Given the description of an element on the screen output the (x, y) to click on. 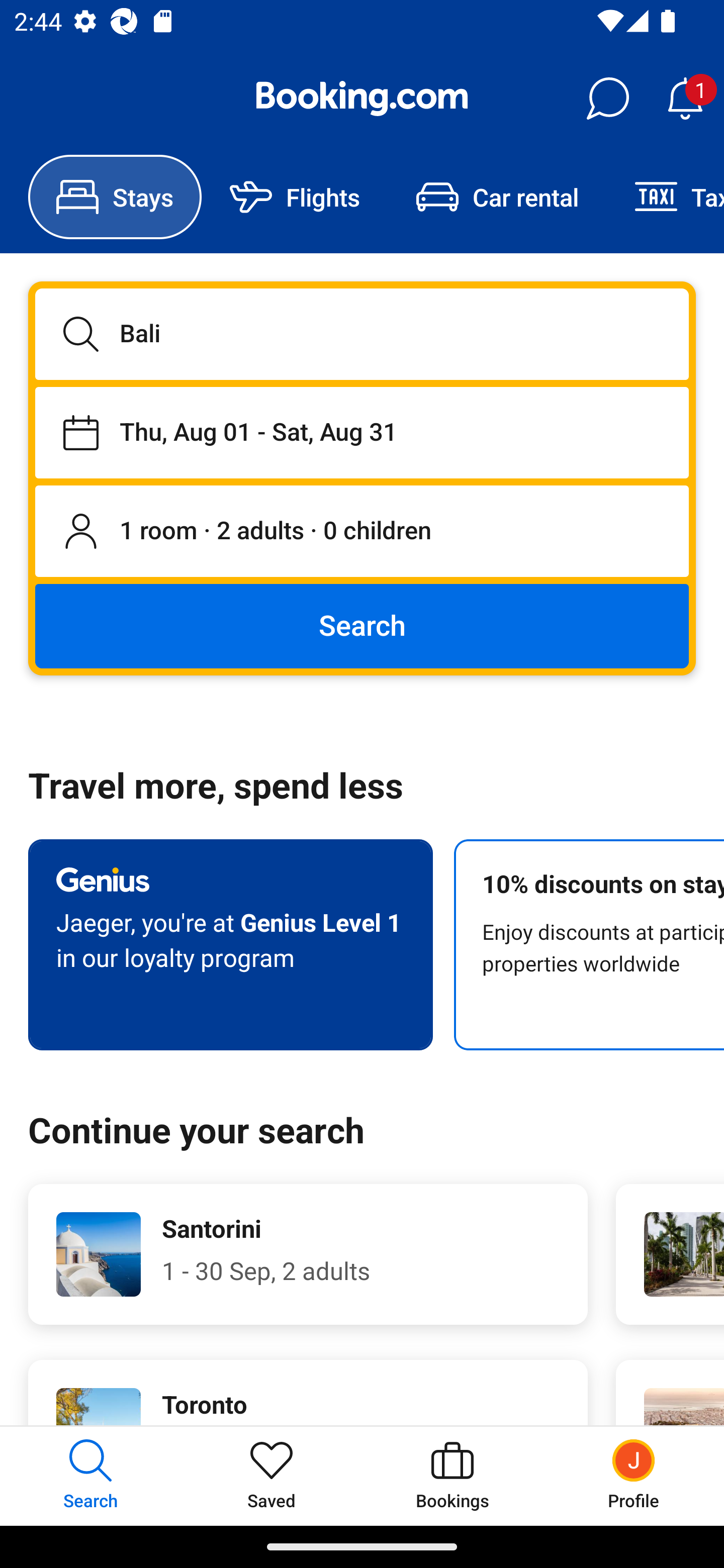
Messages (607, 98)
Notifications (685, 98)
Stays (114, 197)
Flights (294, 197)
Car rental (497, 197)
Taxi (665, 197)
Bali (361, 333)
Staying from Thu, Aug 01 until Sat, Aug 31 (361, 432)
1 room, 2 adults, 0 children (361, 531)
Search (361, 625)
Santorini 1 - 30 Sep, 2 adults (307, 1253)
Saved (271, 1475)
Bookings (452, 1475)
Profile (633, 1475)
